Given the description of an element on the screen output the (x, y) to click on. 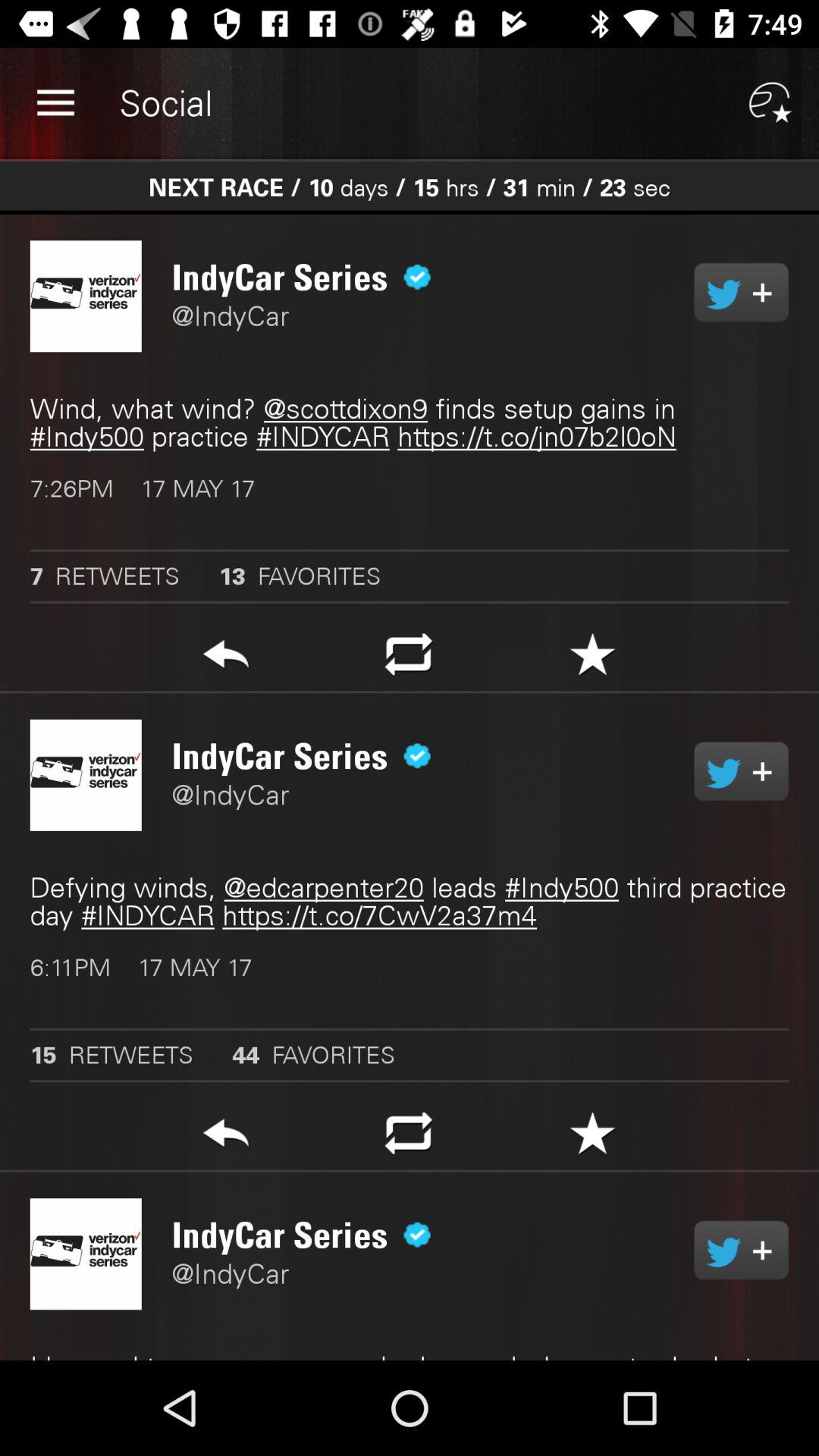
follow on twitter (740, 770)
